Given the description of an element on the screen output the (x, y) to click on. 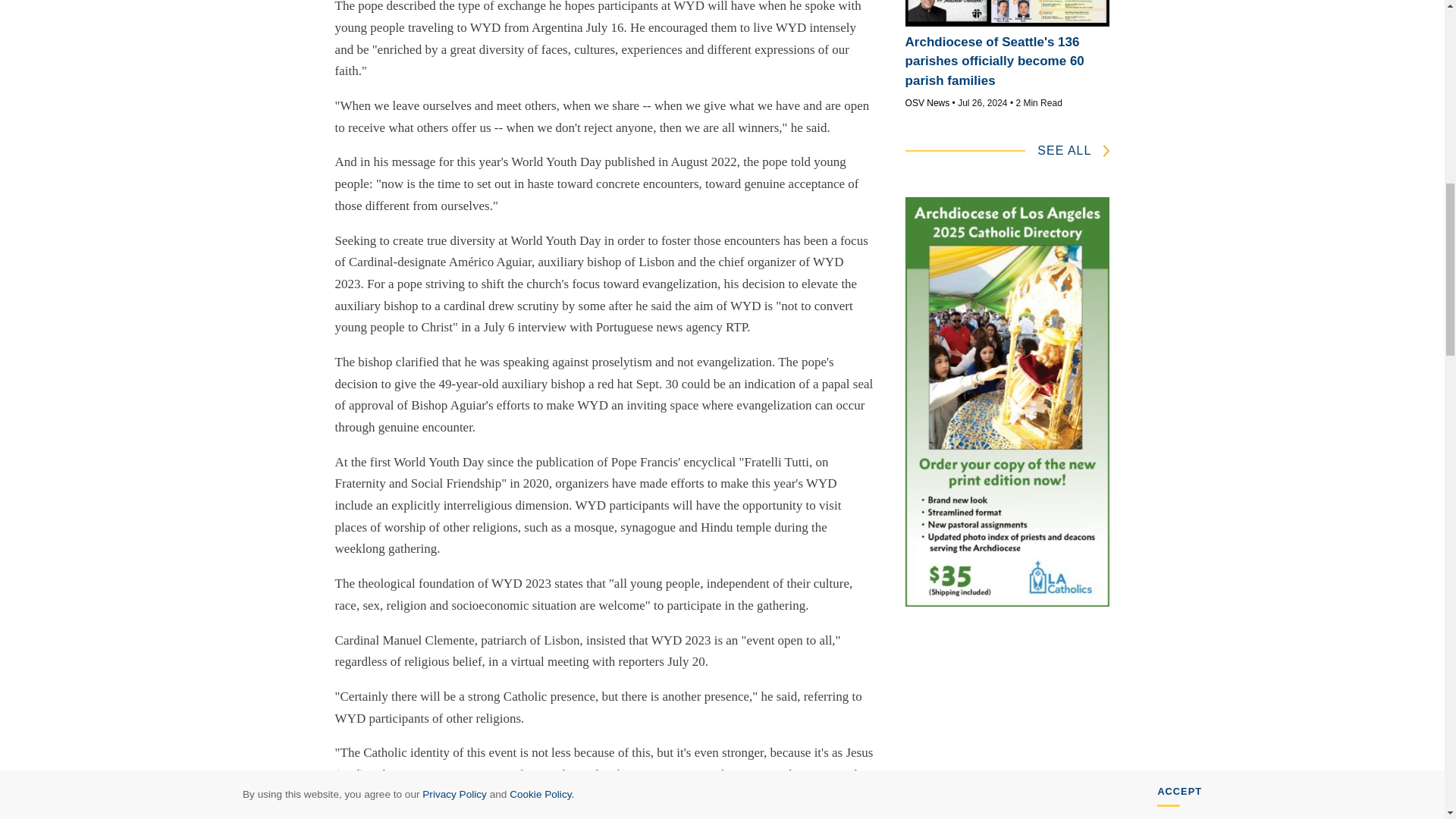
Posts by OSV News (927, 102)
